Given the description of an element on the screen output the (x, y) to click on. 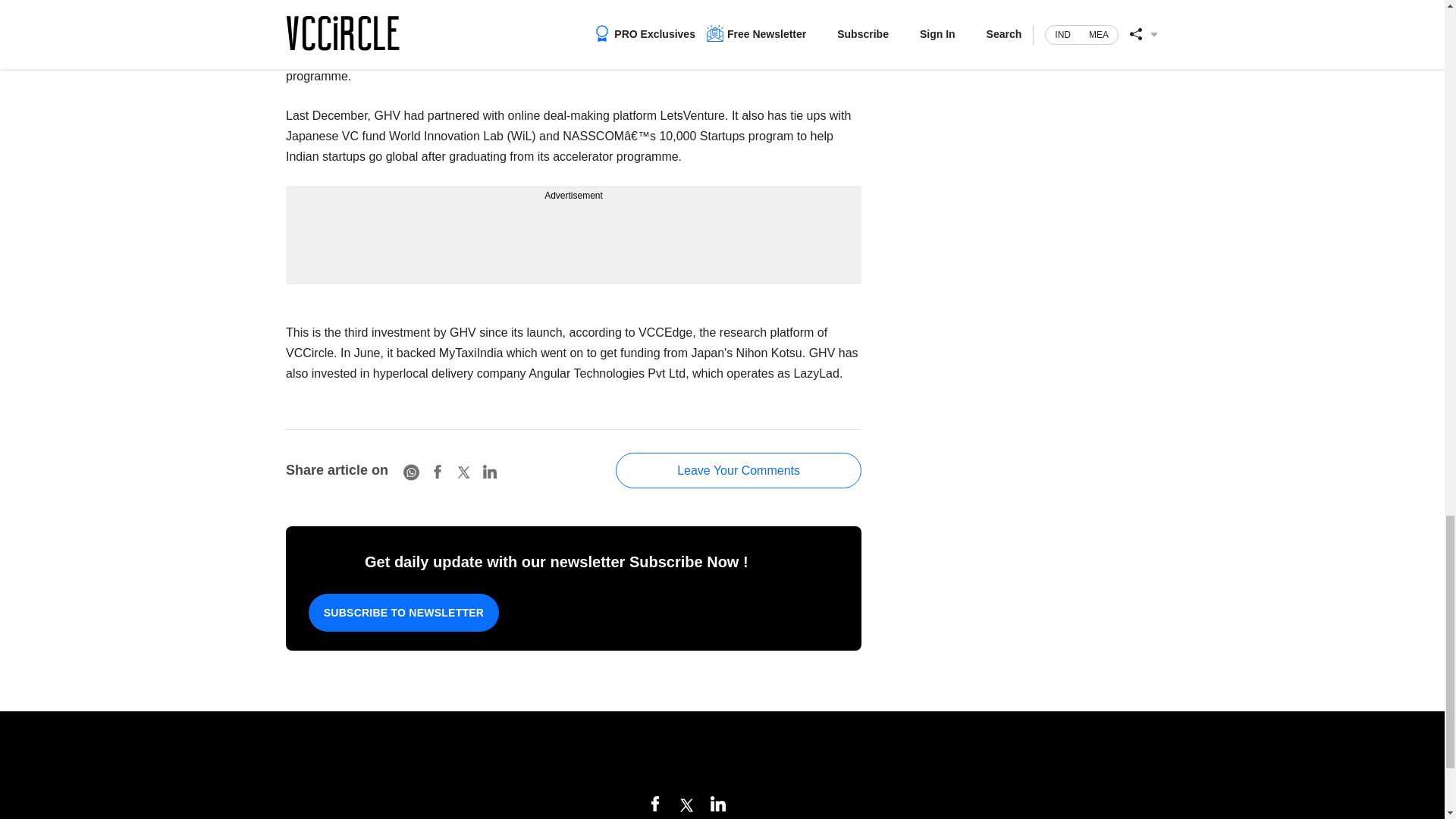
SUBSCRIBE TO NEWSLETTER (403, 612)
Leave Your Comments (738, 470)
Mosaic Digital (721, 754)
